Given the description of an element on the screen output the (x, y) to click on. 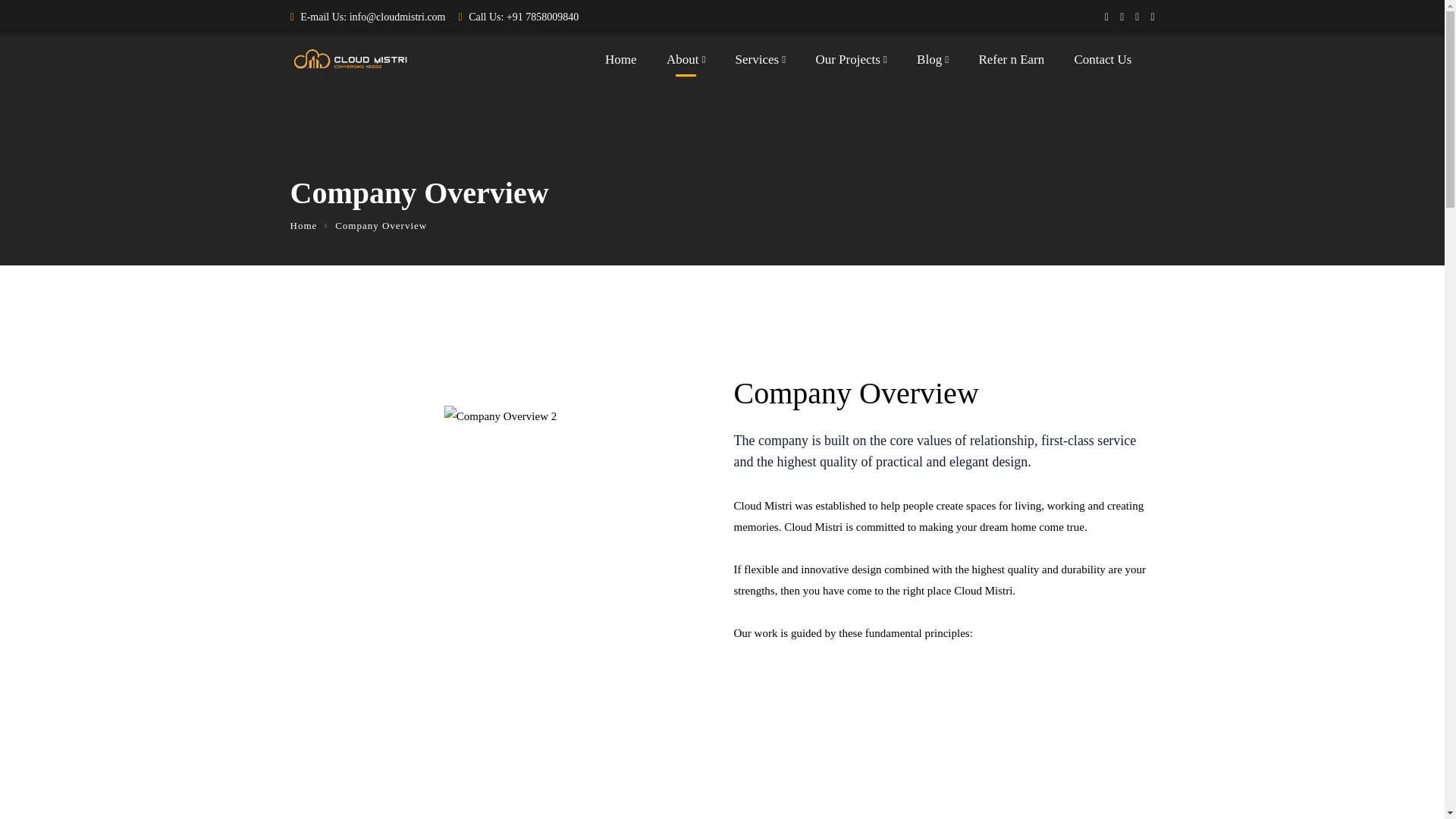
Our Projects (850, 62)
Home (621, 62)
Blog (933, 62)
Refer n Earn (1010, 62)
Home (303, 225)
Company Overview 1 (500, 415)
About (685, 62)
Services (760, 62)
Contact Us (1102, 62)
